Given the description of an element on the screen output the (x, y) to click on. 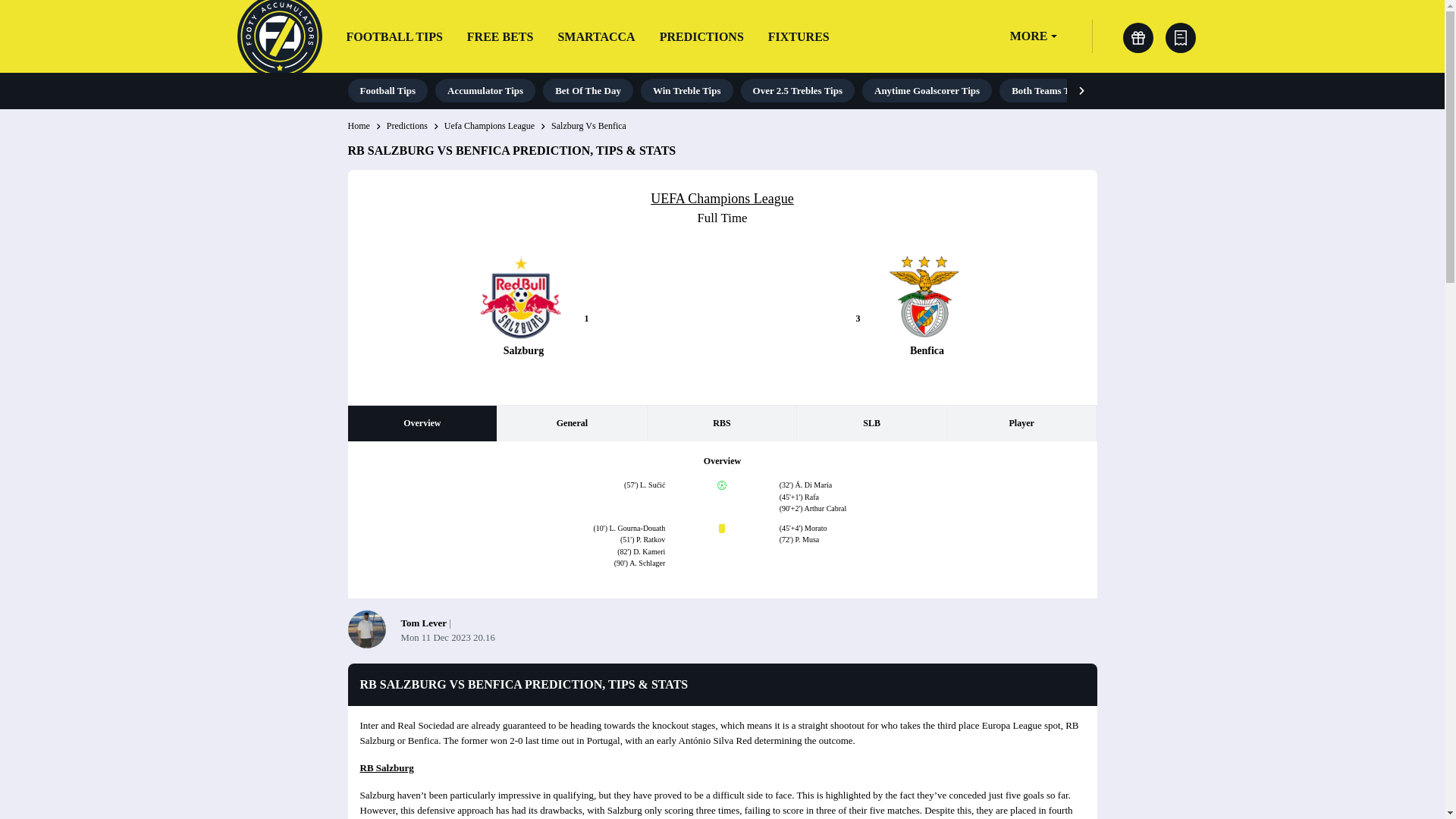
Overview (421, 423)
FOOTBALL TIPS (394, 36)
Uefa Champions League (489, 126)
Salzburg Vs Benfica (588, 126)
MORE (1033, 36)
Anytime Goalscorer Tips (926, 90)
General (571, 423)
Home (358, 126)
Accumulator Tips (485, 90)
Bet Of The Day (588, 90)
FIXTURES (798, 36)
SMARTACCA (595, 36)
Win Treble Tips (686, 90)
Over 2.5 Trebles Tips (797, 90)
Sky Bet BuildABet Tips (1324, 90)
